Given the description of an element on the screen output the (x, y) to click on. 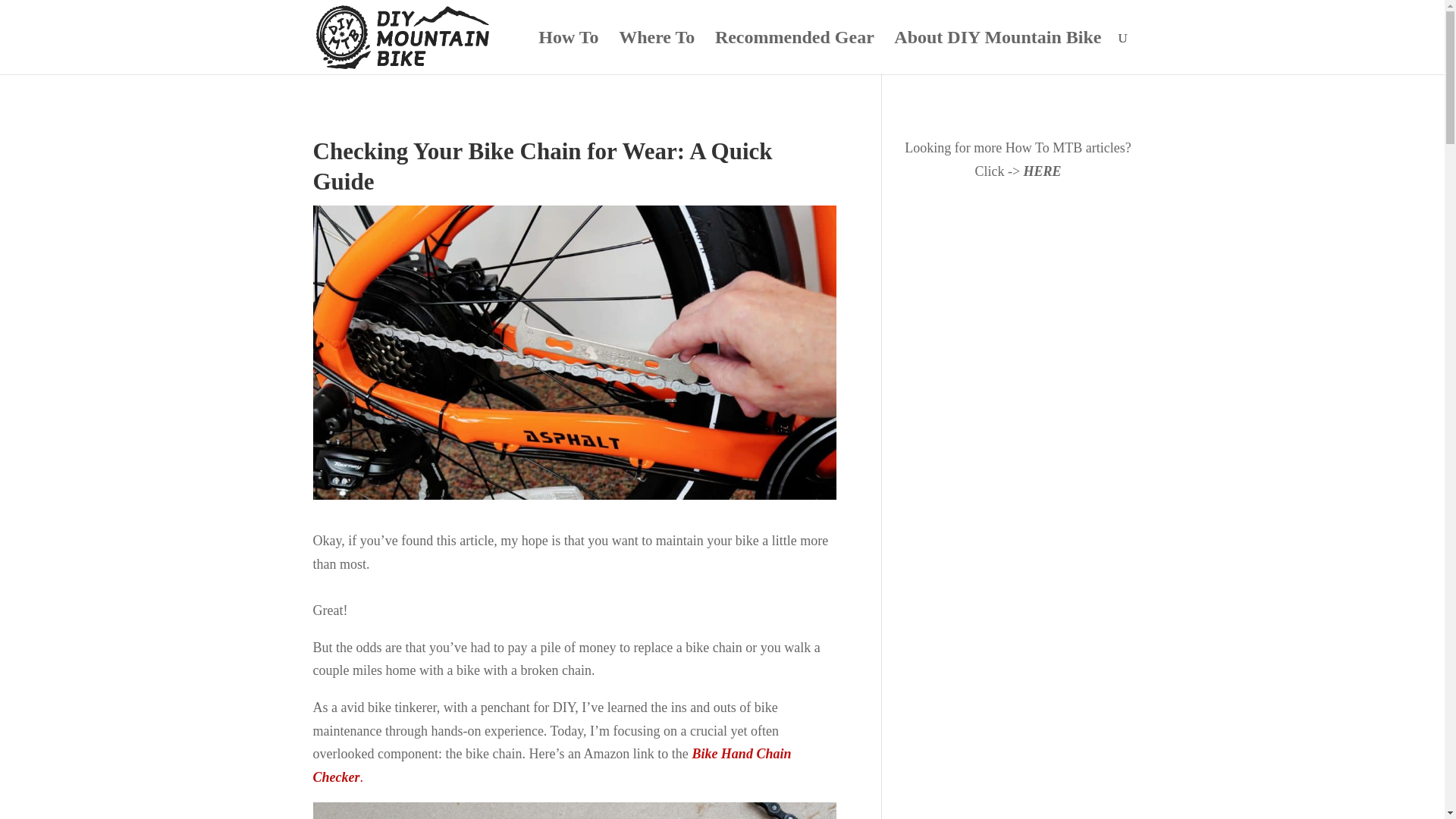
Recommended Gear (794, 52)
Bike Hand Chain Checker. (551, 765)
Where To (656, 52)
About DIY Mountain Bike (996, 52)
How To (568, 52)
